Given the description of an element on the screen output the (x, y) to click on. 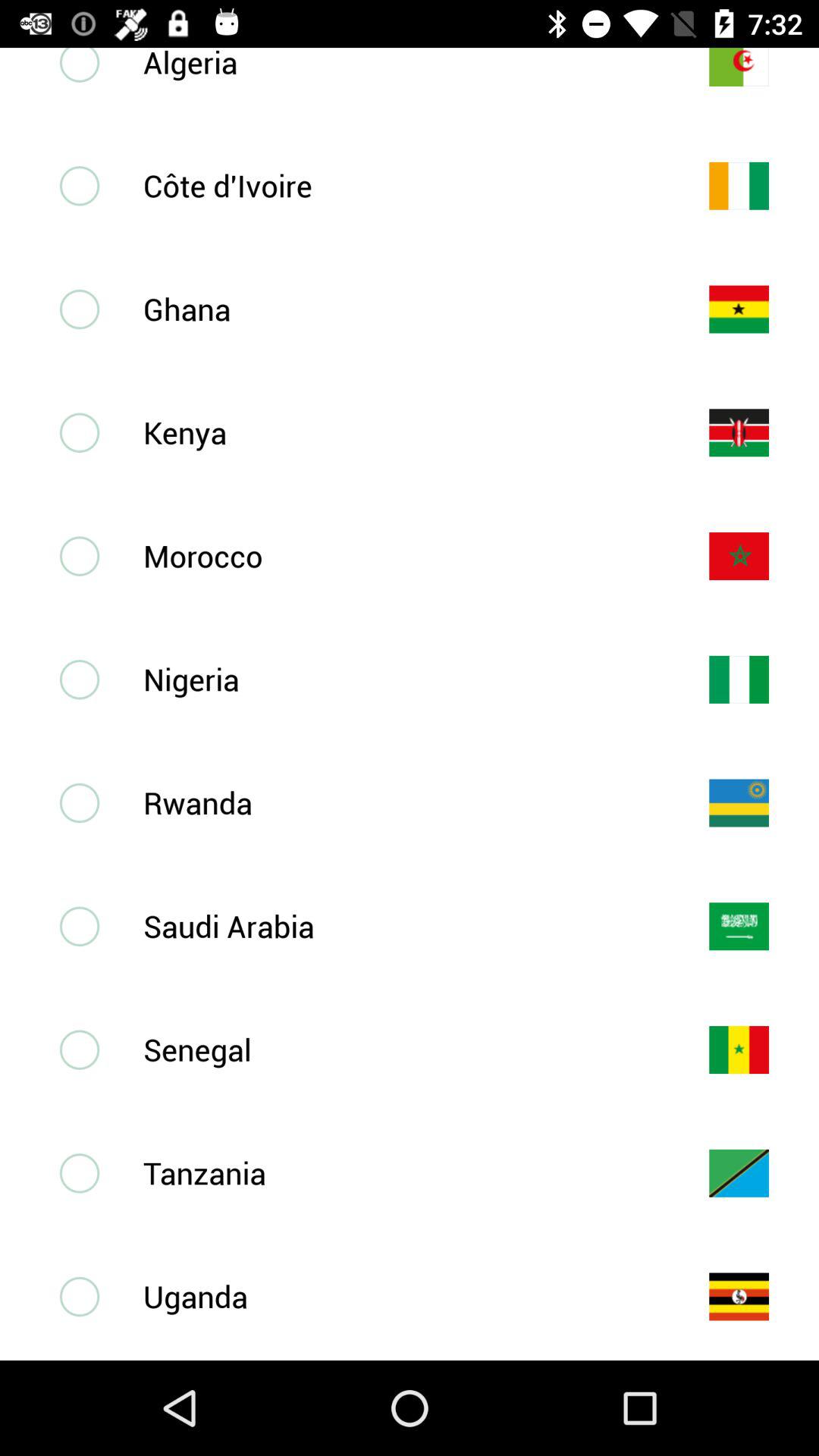
swipe to the morocco icon (401, 555)
